Given the description of an element on the screen output the (x, y) to click on. 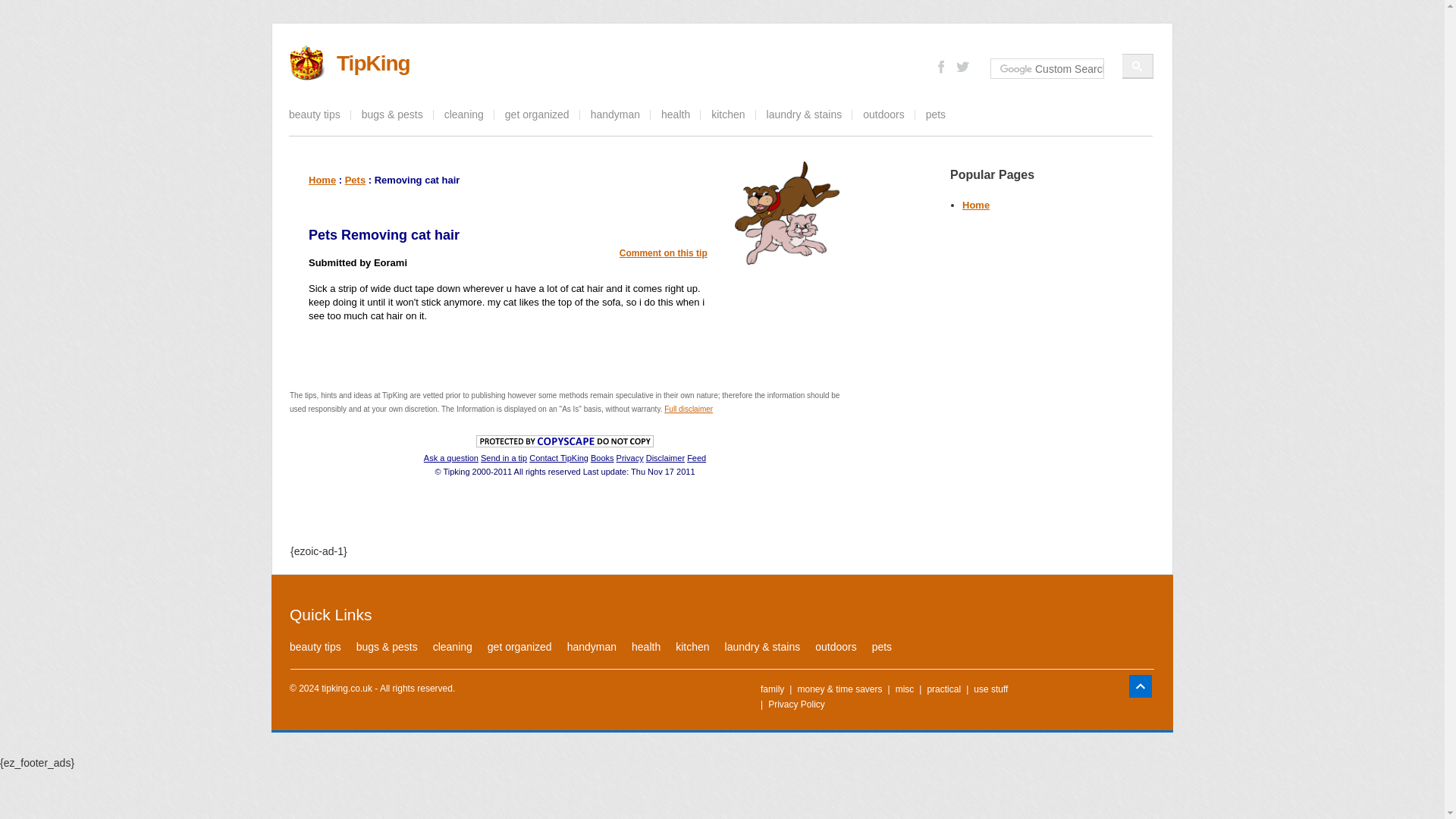
Privacy (629, 457)
Contact TipKing (558, 457)
search (1137, 66)
TipKing (373, 63)
Ask a question (451, 457)
kitchen (692, 646)
kitchen (727, 115)
Comment on this tip (663, 253)
outdoors (882, 115)
Full disclaimer (688, 408)
get organized (537, 115)
family (772, 688)
health (675, 115)
pets (935, 115)
handyman (614, 115)
